Given the description of an element on the screen output the (x, y) to click on. 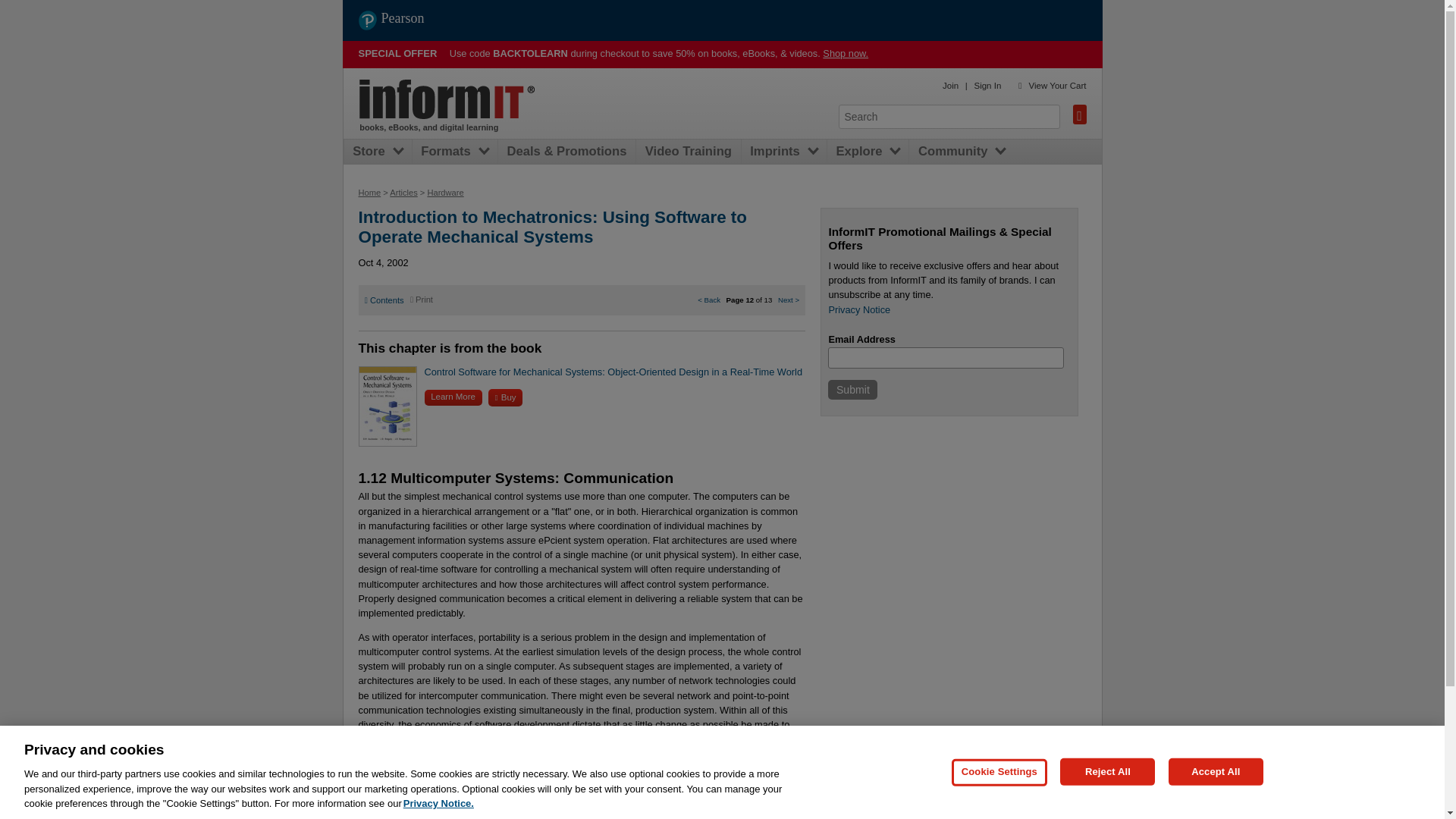
Privacy Notice (858, 309)
Learn More (453, 397)
Submit (852, 389)
View Your Cart (1057, 85)
Articles (403, 192)
Home (446, 98)
Submit (852, 389)
Hardware (444, 192)
Print (421, 298)
